Given the description of an element on the screen output the (x, y) to click on. 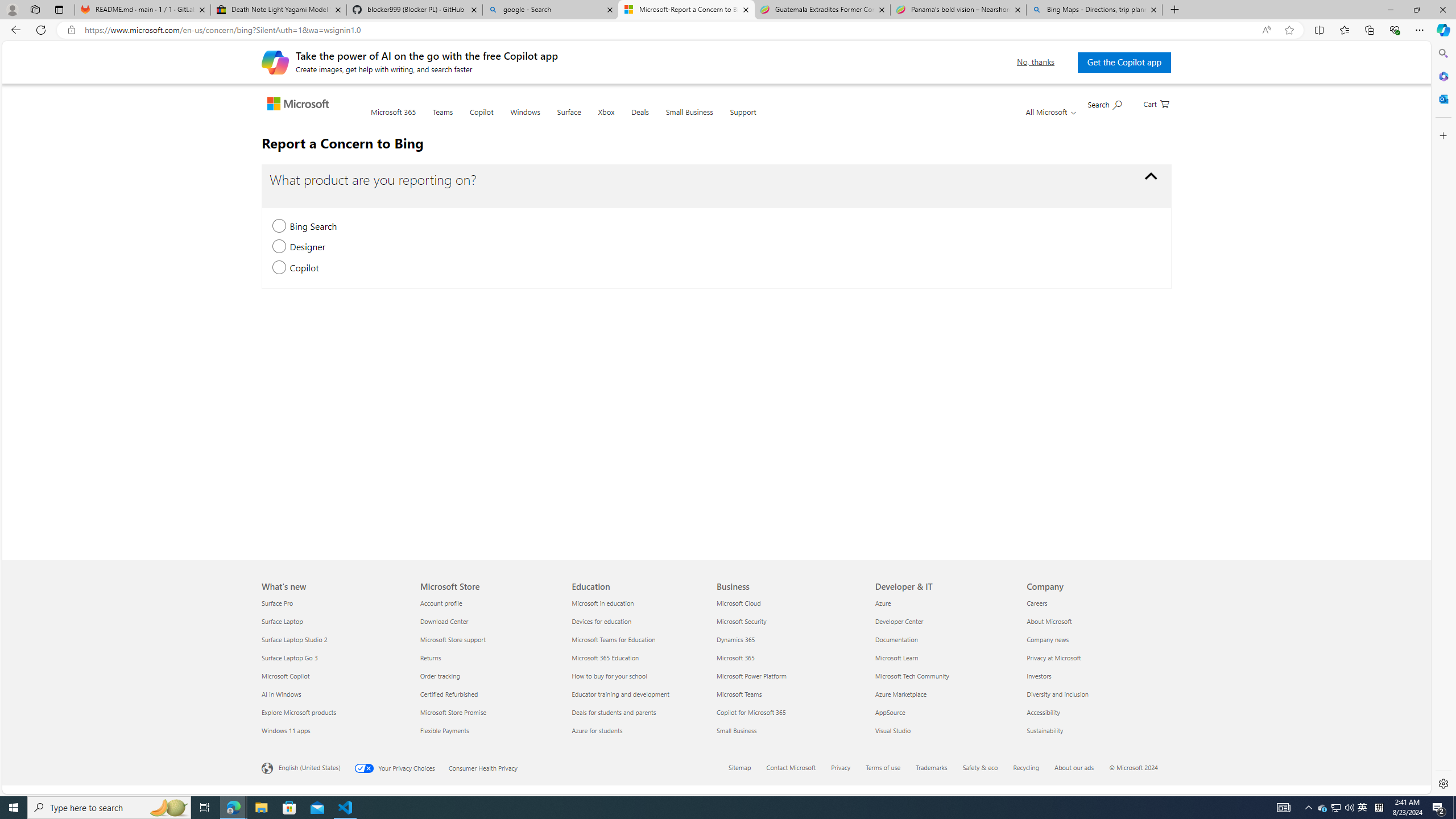
Dynamics 365 (788, 638)
Microsoft in education (641, 602)
Support (743, 118)
Microsoft Security Business (741, 620)
Download Center (489, 620)
Developer Center (944, 620)
Small Business (788, 730)
Investors Company (1038, 675)
Visual Studio Developer & IT (893, 729)
Investors (1095, 675)
About Microsoft (1095, 620)
